Given the description of an element on the screen output the (x, y) to click on. 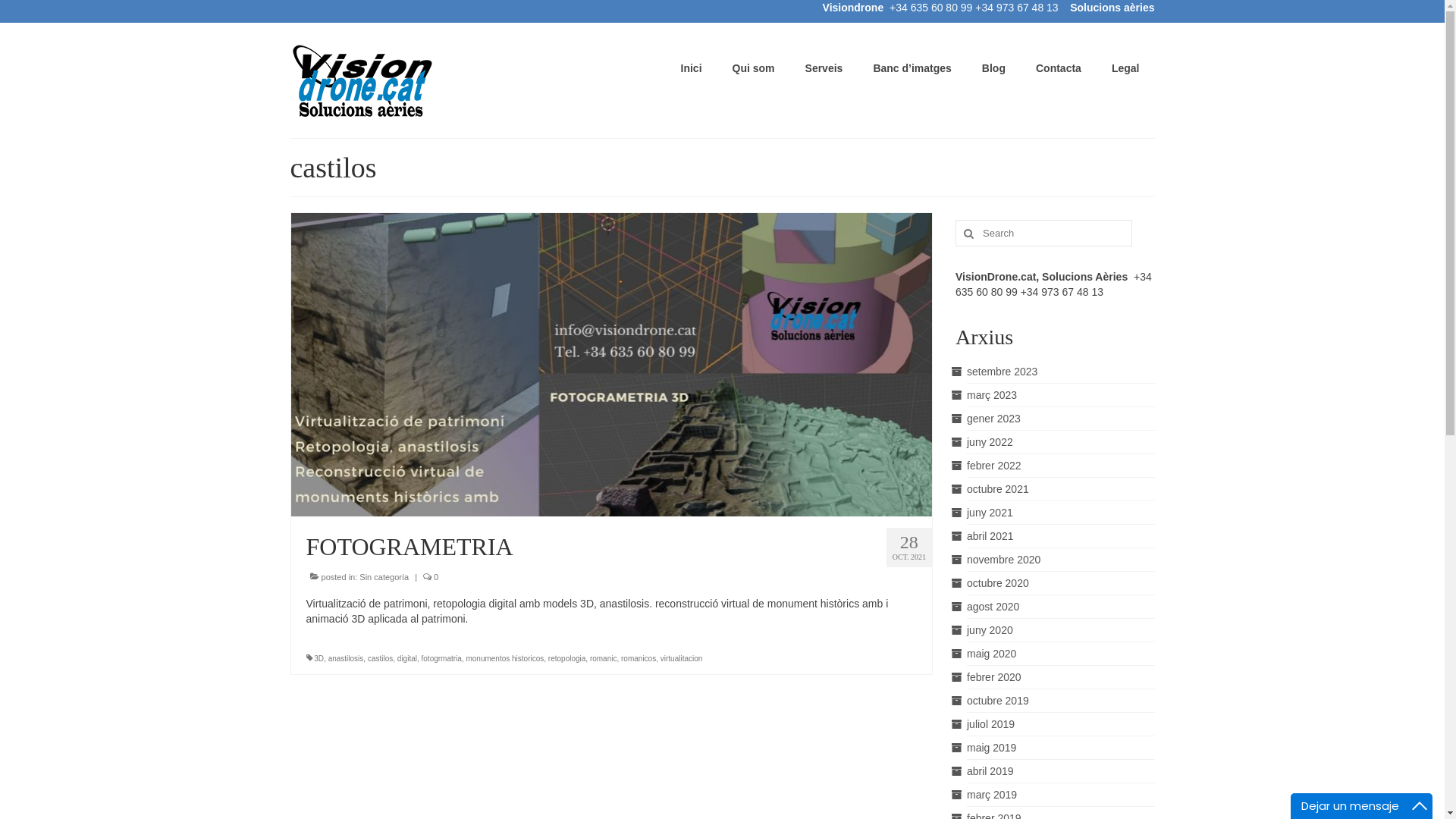
digital Element type: text (407, 658)
gener 2023 Element type: text (993, 418)
maig 2020 Element type: text (991, 653)
juliol 2019 Element type: text (990, 724)
juny 2021 Element type: text (989, 512)
febrer 2022 Element type: text (993, 465)
FOTOGRAMETRIA Element type: hover (611, 363)
Legal Element type: text (1125, 68)
Serveis Element type: text (824, 68)
castilos Element type: text (379, 658)
setembre 2023 Element type: text (1001, 371)
octubre 2021 Element type: text (997, 489)
virtualitacion Element type: text (681, 658)
juny 2022 Element type: text (989, 442)
juny 2020 Element type: text (989, 630)
romanic Element type: text (603, 658)
novembre 2020 Element type: text (1003, 559)
Qui som Element type: text (753, 68)
abril 2019 Element type: text (989, 771)
3D Element type: text (318, 658)
maximizar Element type: hover (1419, 806)
Inici Element type: text (691, 68)
maig 2019 Element type: text (991, 747)
FOTOGRAMETRIA Element type: text (611, 546)
romanicos Element type: text (638, 658)
retopologia Element type: text (566, 658)
octubre 2020 Element type: text (997, 583)
Contacta Element type: text (1058, 68)
anastilosis Element type: text (346, 658)
octubre 2019 Element type: text (997, 700)
fotogrmatria Element type: text (441, 658)
agost 2020 Element type: text (992, 606)
Blog Element type: text (993, 68)
abril 2021 Element type: text (989, 536)
monumentos historicos Element type: text (504, 658)
febrer 2020 Element type: text (993, 677)
